Given the description of an element on the screen output the (x, y) to click on. 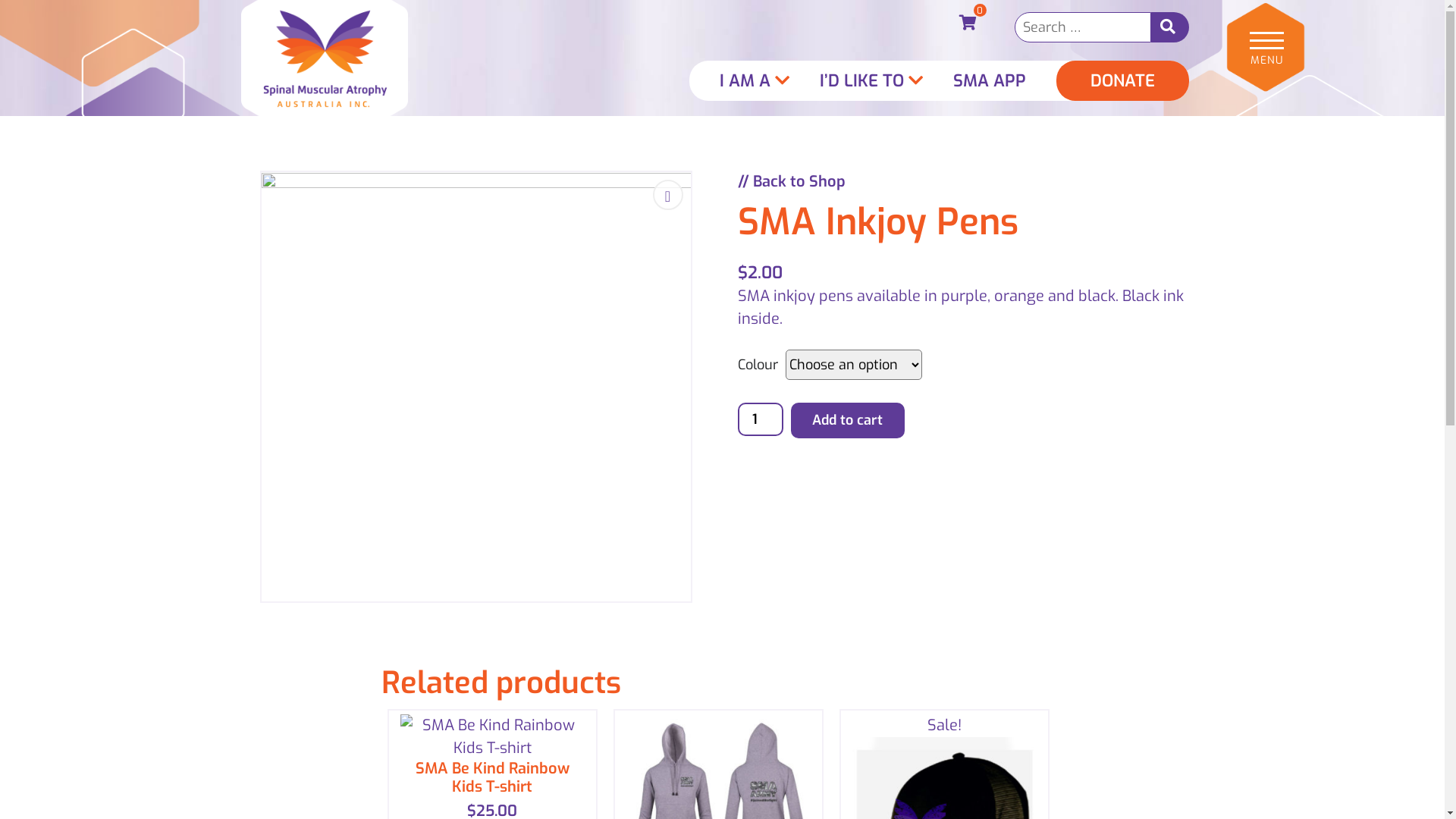
Qty Element type: hover (759, 419)
DONATE Element type: text (1121, 80)
I AM A Element type: text (753, 80)
SMA APP Element type: text (988, 80)
0 Element type: text (966, 23)
// Back to Shop Element type: text (960, 181)
sma_pens Element type: hover (475, 386)
Search for: Element type: hover (1082, 27)
Add to cart Element type: text (846, 420)
